Given the description of an element on the screen output the (x, y) to click on. 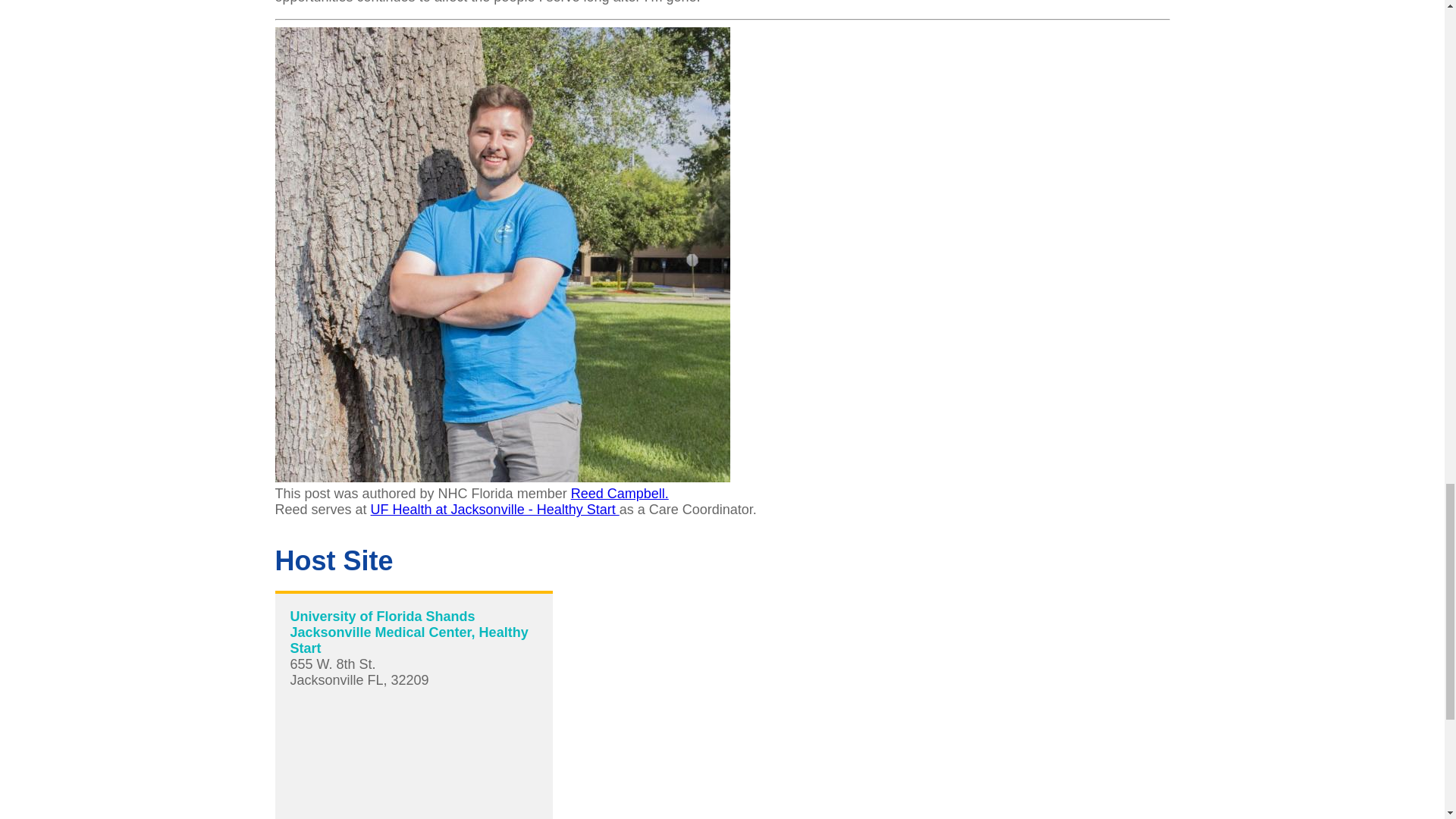
UF Health at Jacksonville - Healthy Start (495, 509)
Reed Campbell. (619, 493)
